Given the description of an element on the screen output the (x, y) to click on. 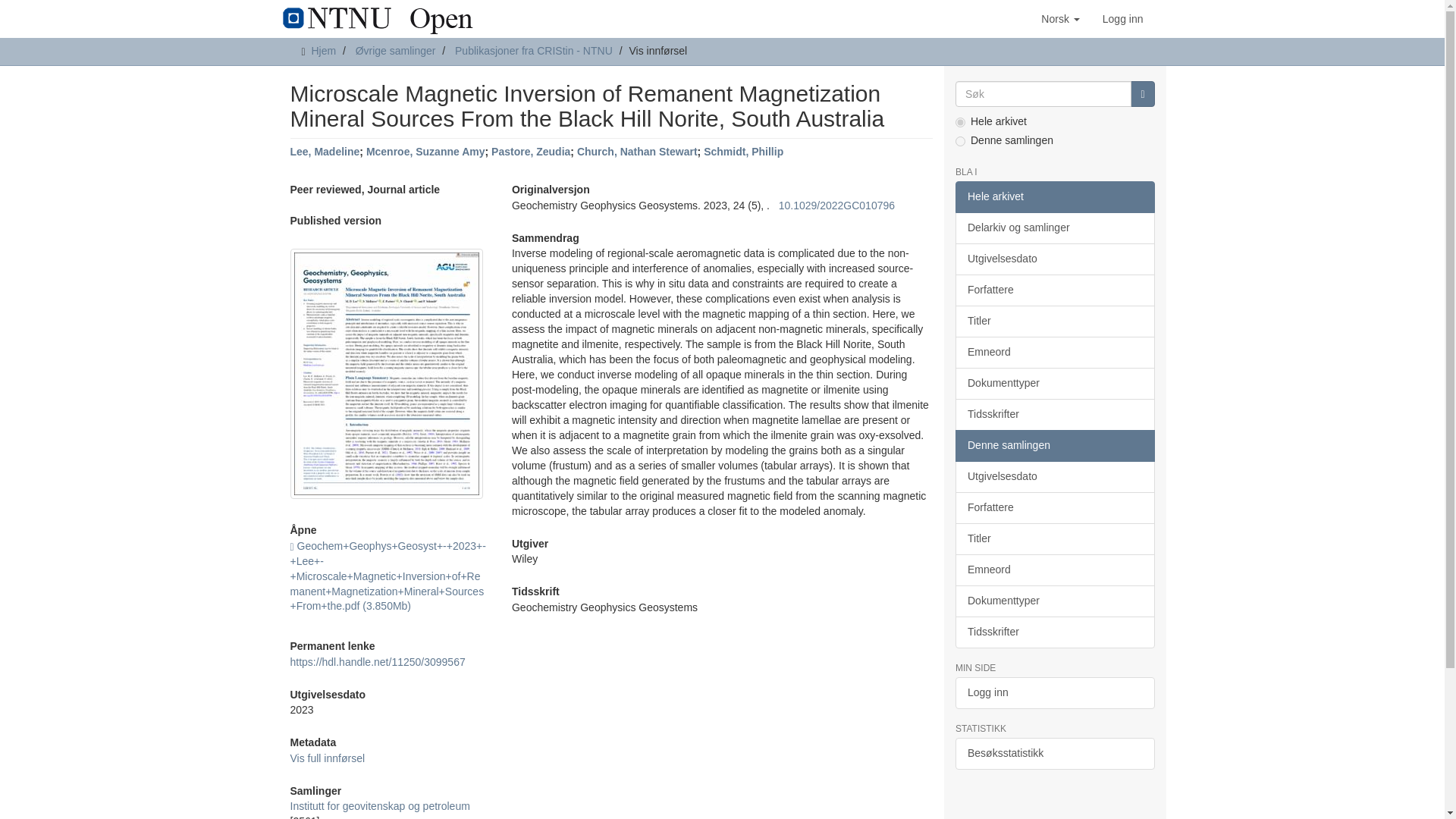
Publikasjoner fra CRIStin - NTNU (533, 50)
Mcenroe, Suzanne Amy (425, 151)
Norsk  (1059, 18)
Lee, Madeline (324, 151)
Institutt for geovitenskap og petroleum (378, 806)
Logg inn (1122, 18)
Pastore, Zeudia (531, 151)
Church, Nathan Stewart (636, 151)
Hele arkivet (1054, 196)
Schmidt, Phillip (743, 151)
Hjem (323, 50)
